Given the description of an element on the screen output the (x, y) to click on. 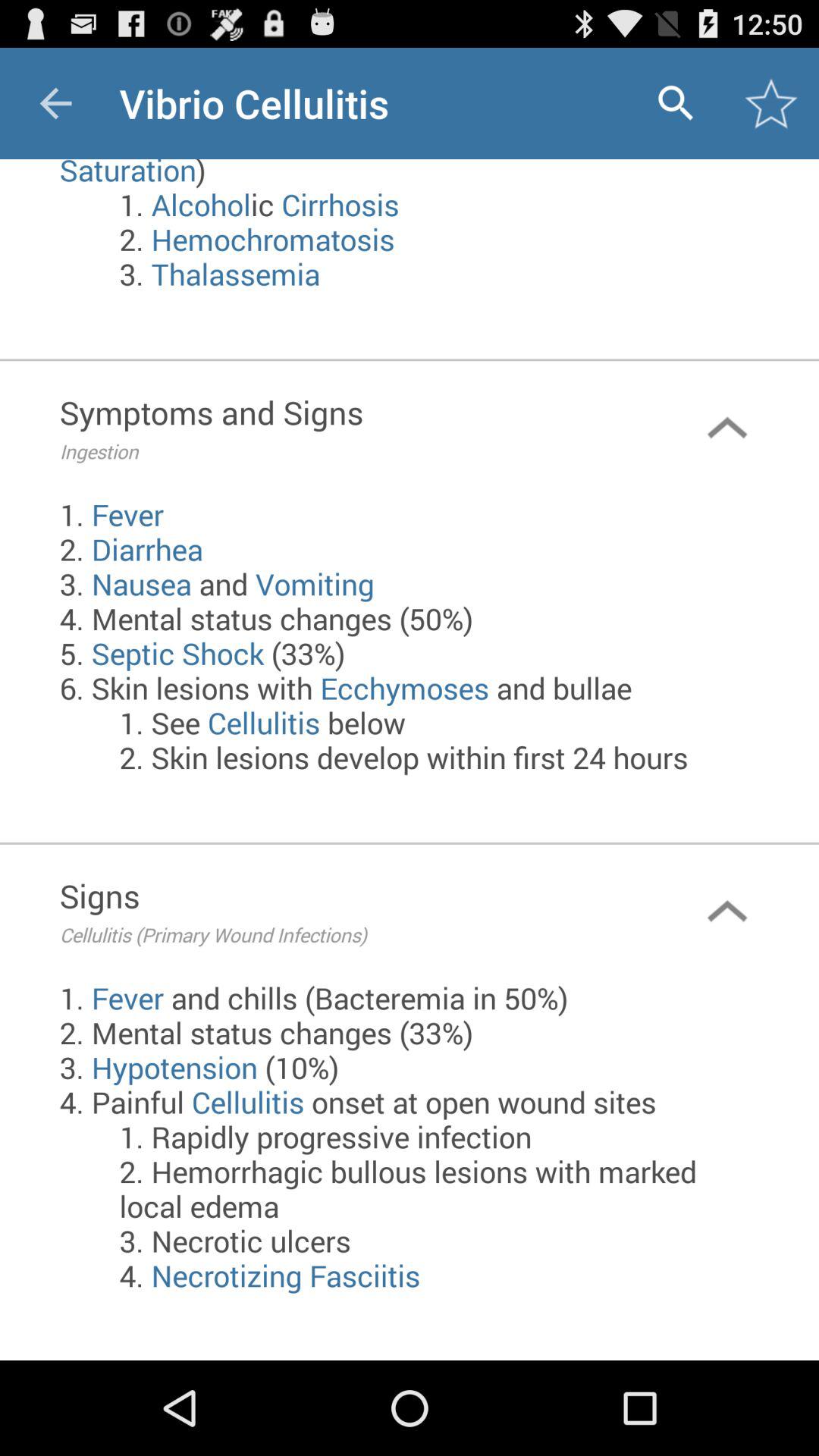
open the icon to the right of the vibrio cellulitis app (675, 103)
